Given the description of an element on the screen output the (x, y) to click on. 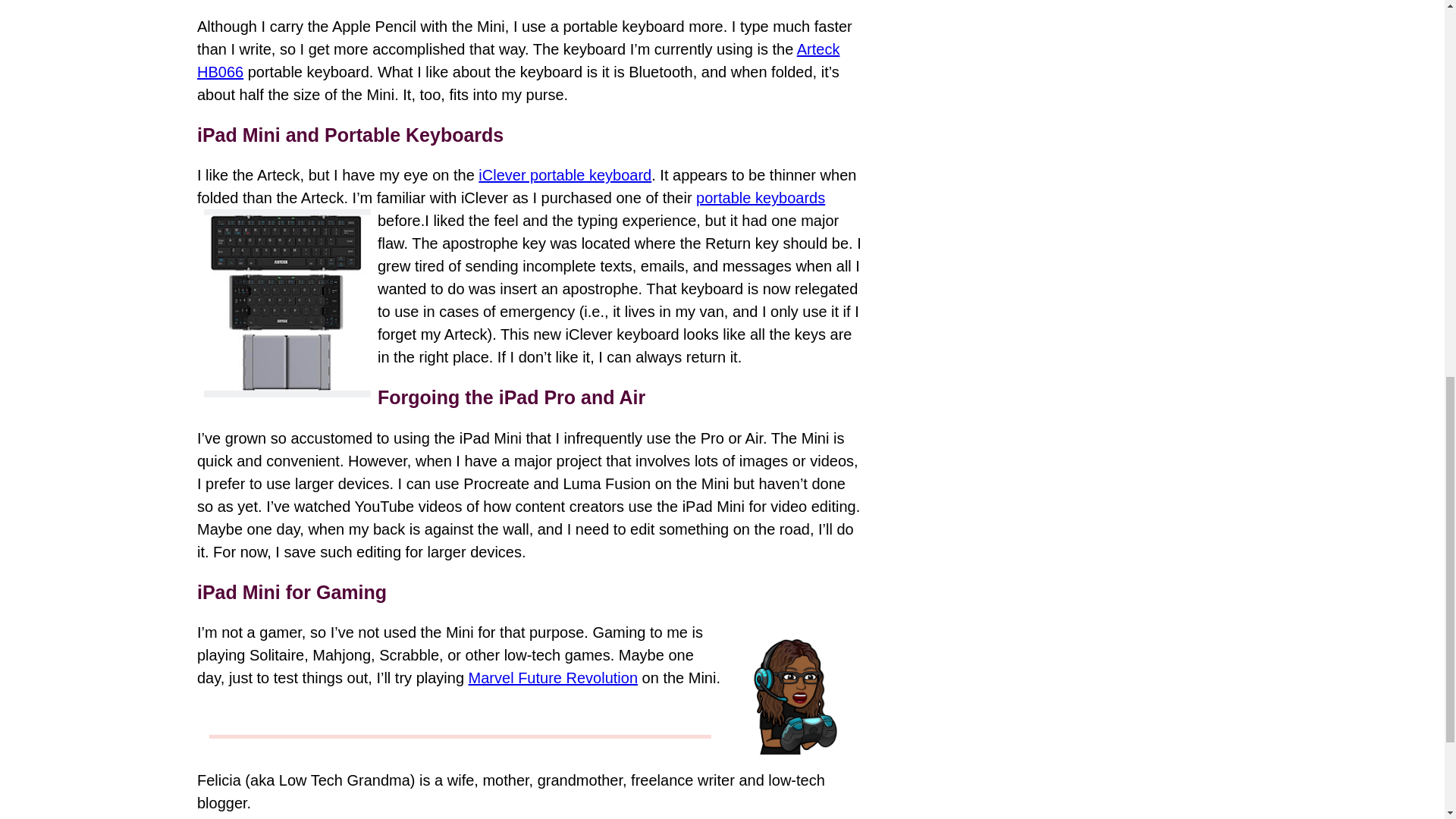
Arteck HB066 (518, 60)
portable keyboards (760, 197)
Marvel Future Revolution (552, 677)
iClever portable keyboard (564, 175)
